Given the description of an element on the screen output the (x, y) to click on. 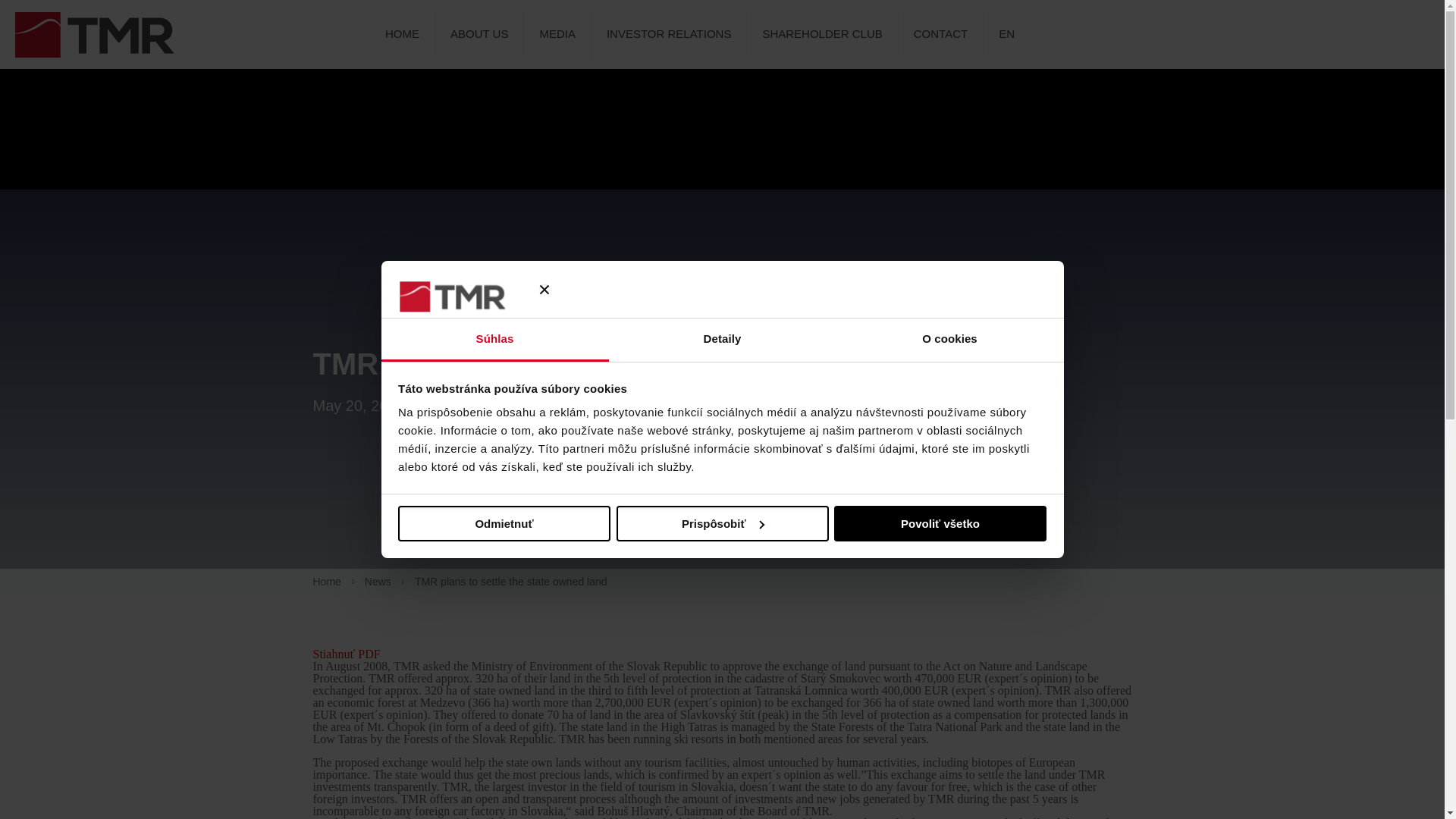
Detaily (721, 339)
O cookies (948, 339)
